Given the description of an element on the screen output the (x, y) to click on. 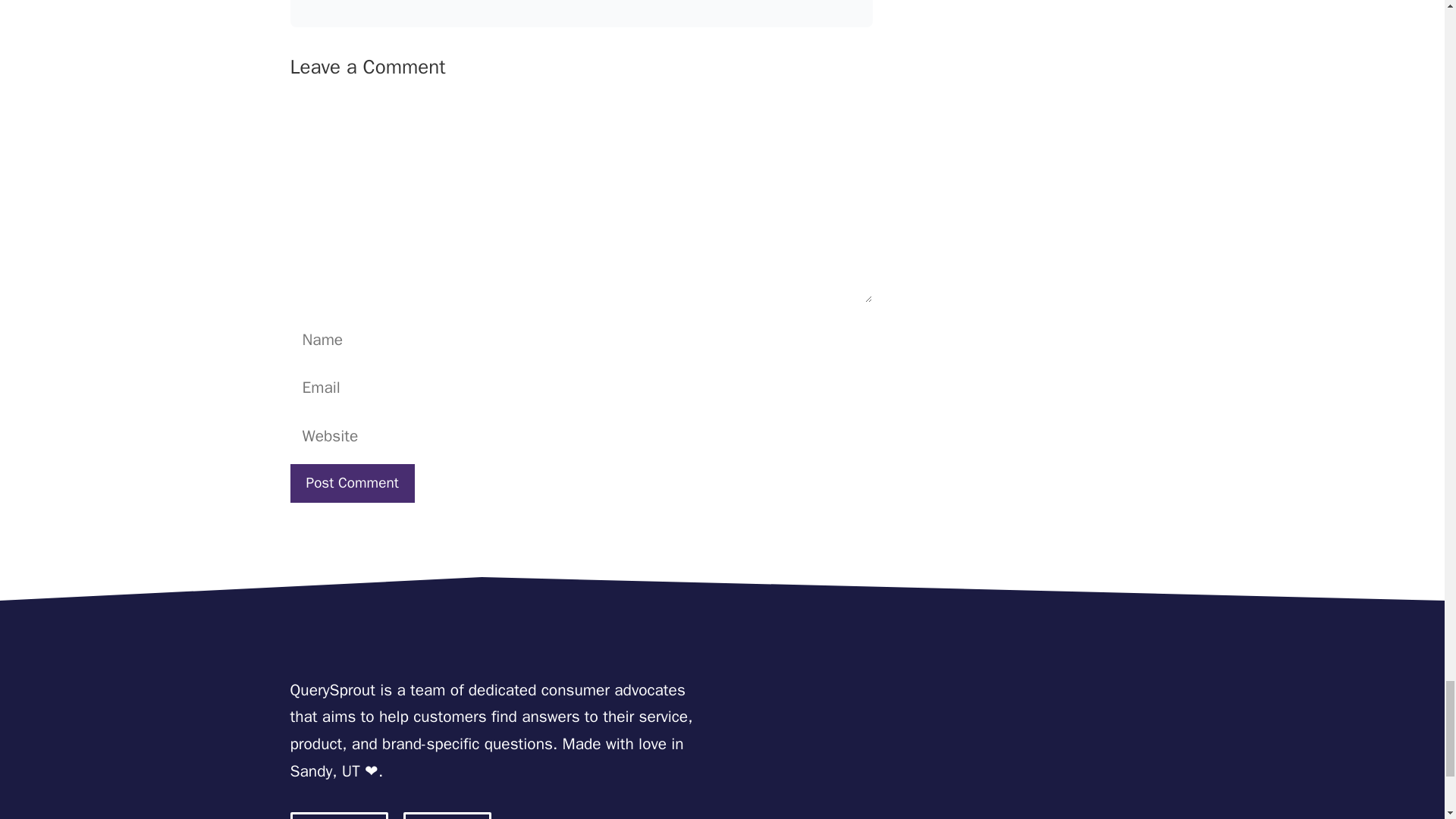
Post Comment (351, 483)
